Given the description of an element on the screen output the (x, y) to click on. 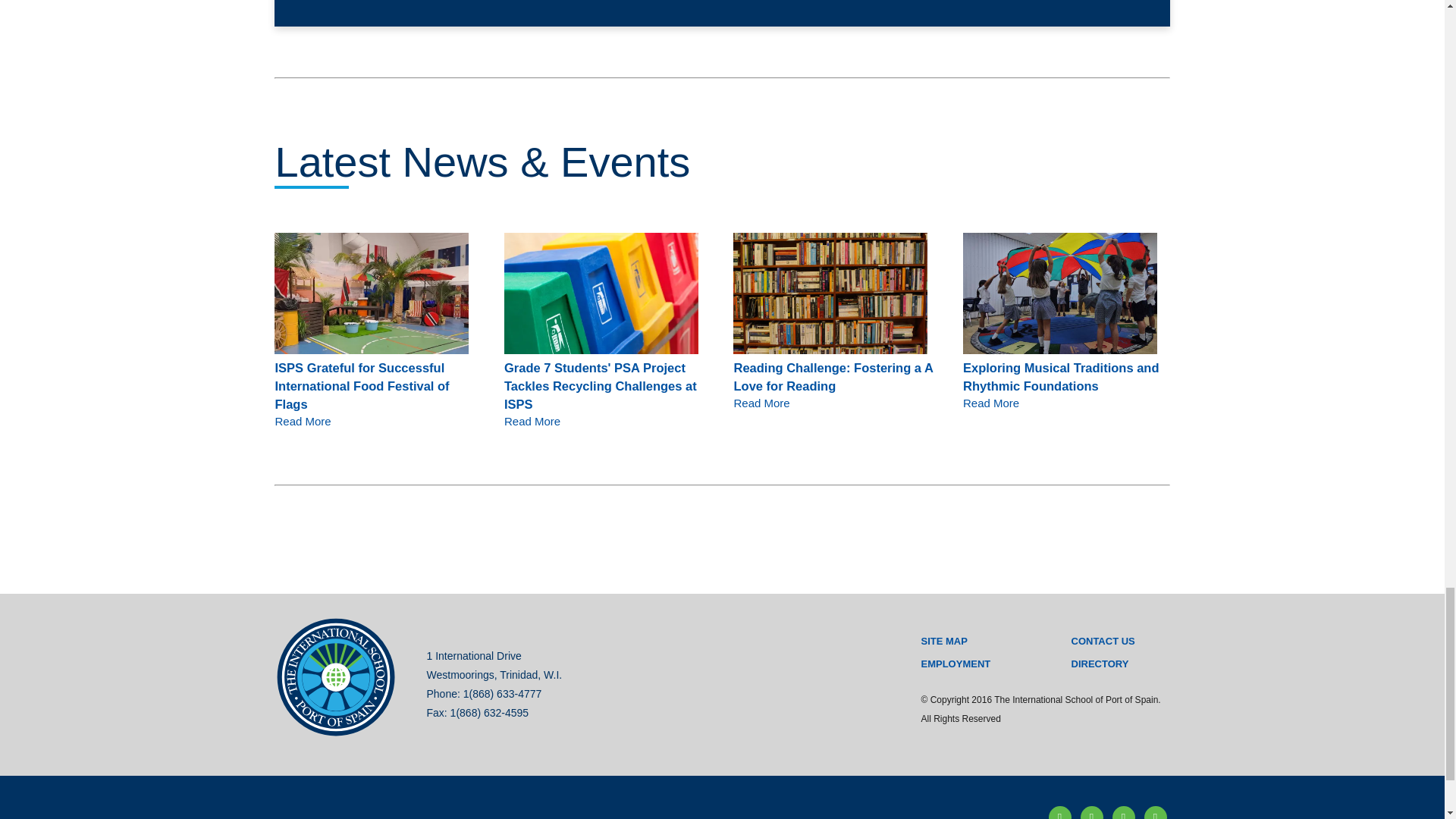
Exploring Musical Traditions and Rhythmic Foundations (1059, 292)
Reading Challenge: Fostering a A Love for Reading (830, 292)
